Given the description of an element on the screen output the (x, y) to click on. 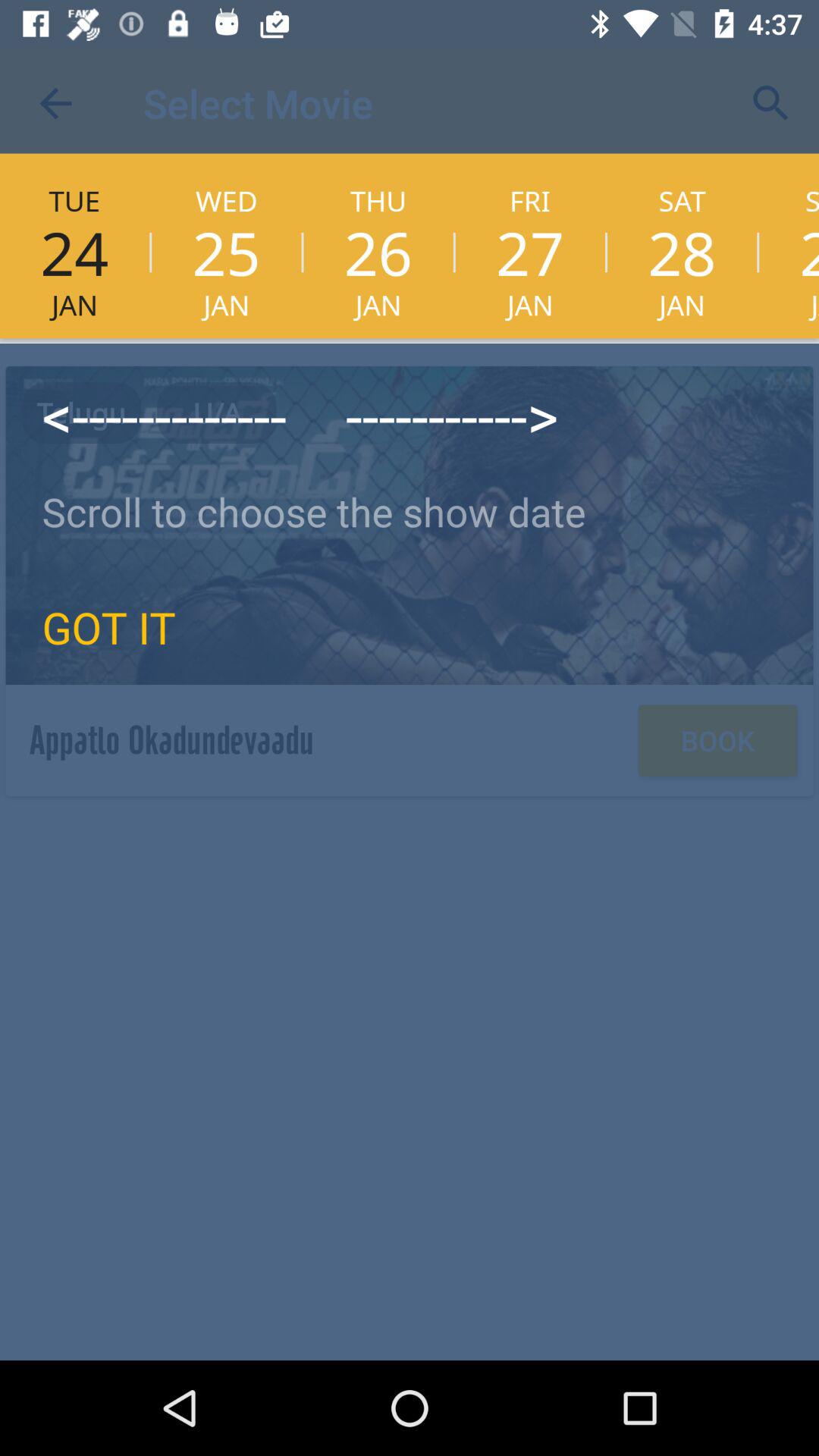
launch the item to the left of the select movie item (55, 103)
